Given the description of an element on the screen output the (x, y) to click on. 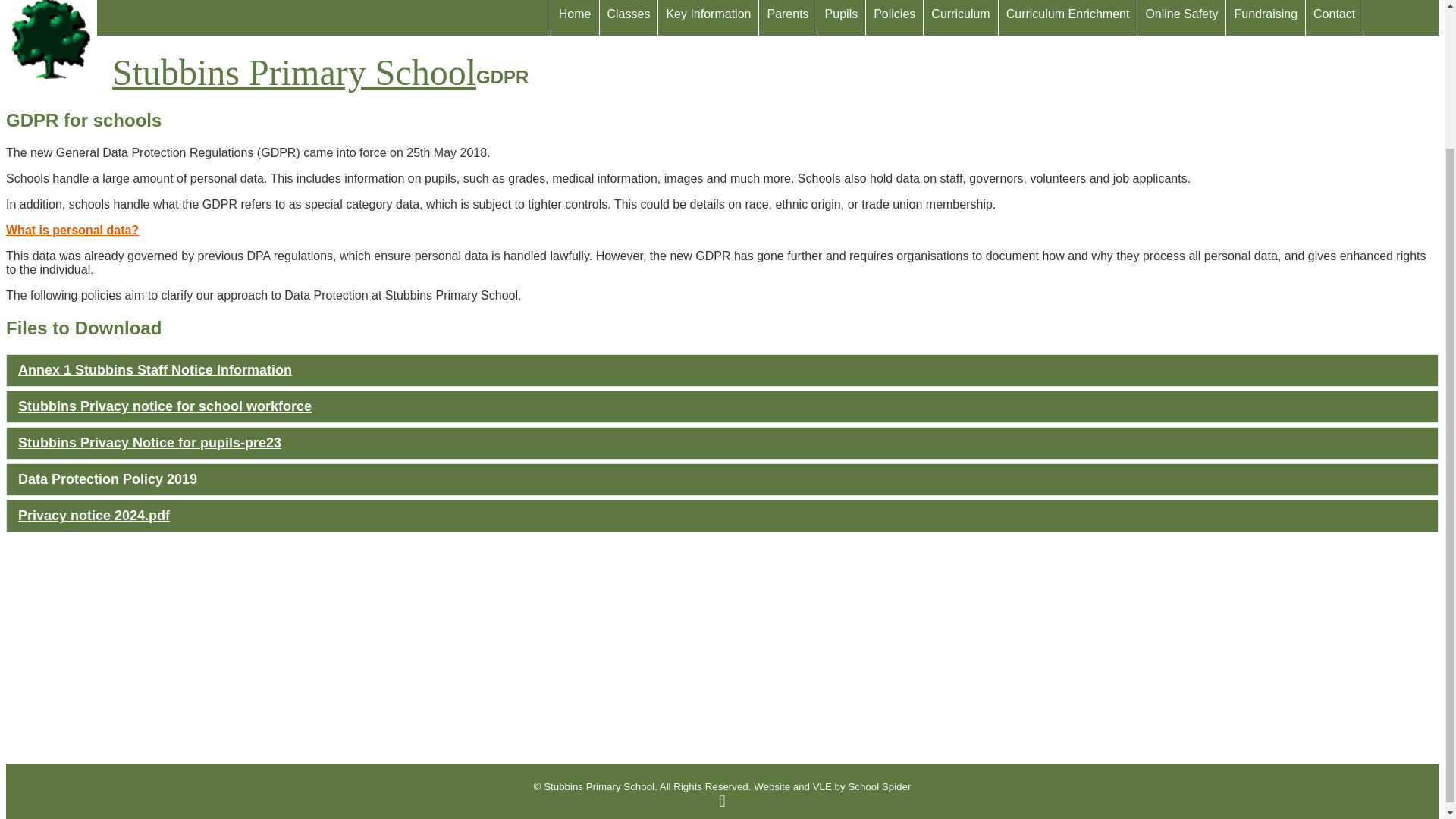
Stubbins Primary School (240, 42)
Key Information (708, 17)
Classes (628, 17)
Home (574, 17)
